Given the description of an element on the screen output the (x, y) to click on. 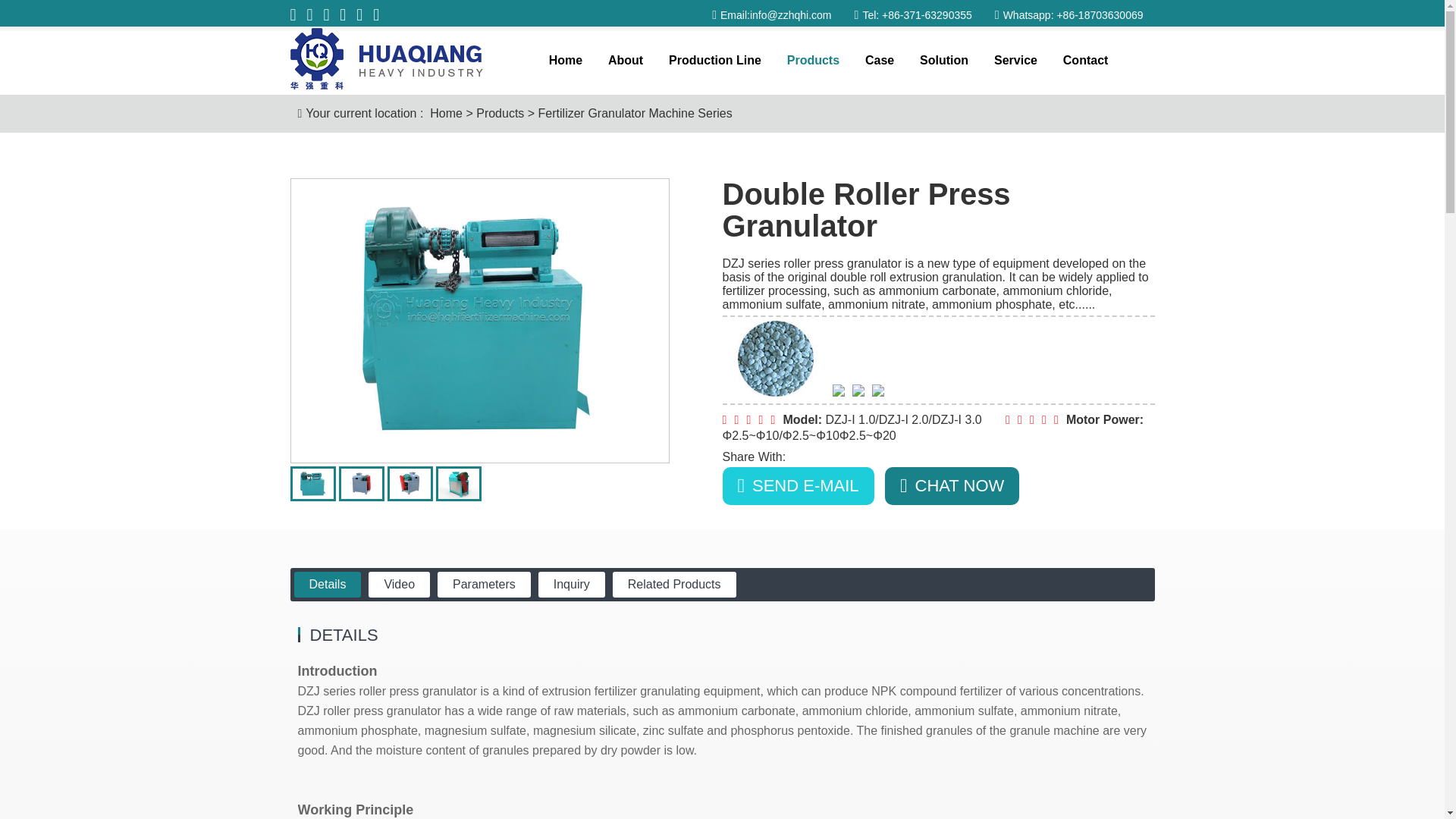
Products (500, 113)
Fertilizer Granulator Machine Series (635, 113)
Production Line (714, 60)
Production Line (714, 60)
